Given the description of an element on the screen output the (x, y) to click on. 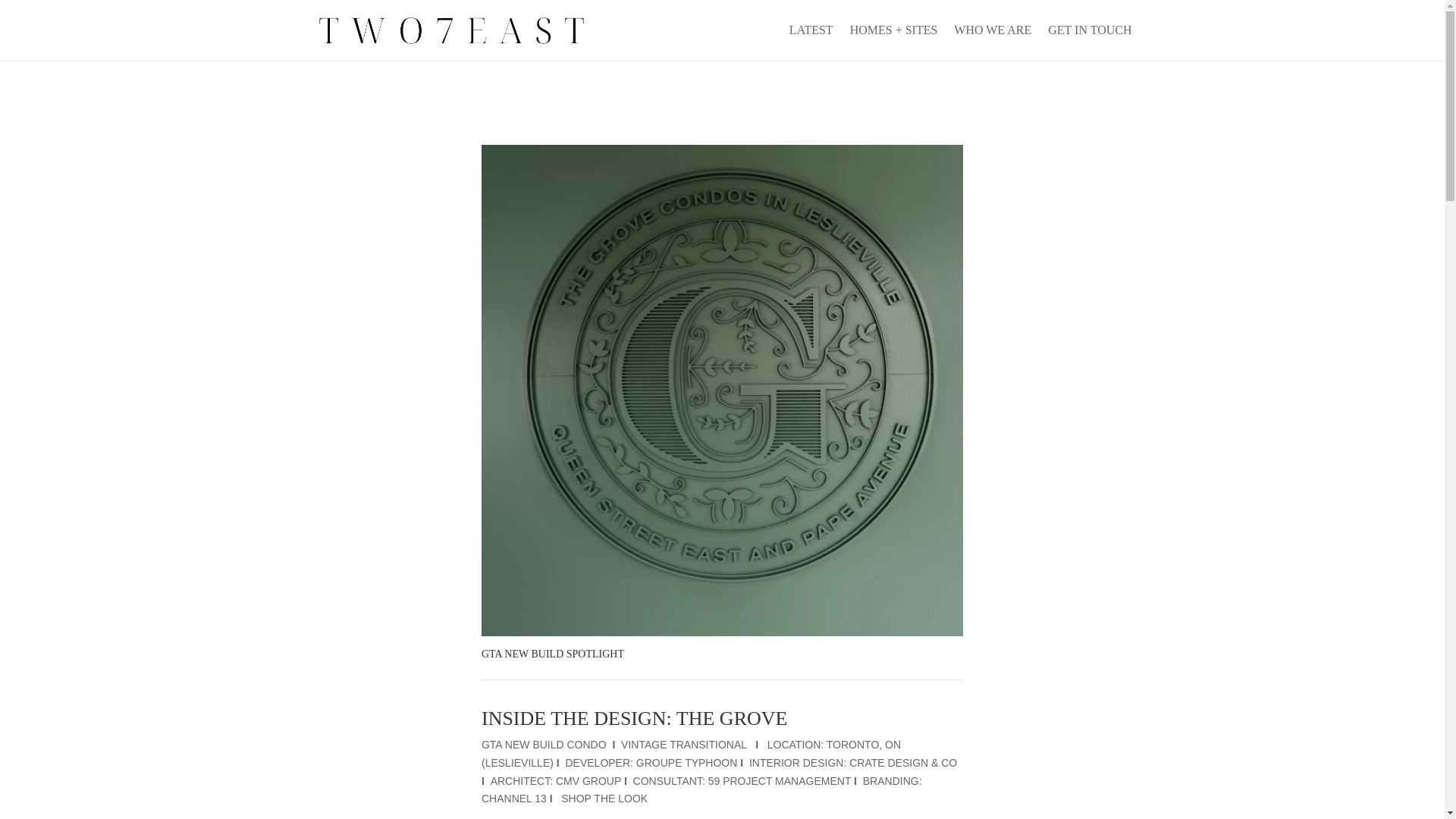
WHO WE ARE (991, 42)
GET IN TOUCH (1089, 42)
LATEST (810, 42)
